Given the description of an element on the screen output the (x, y) to click on. 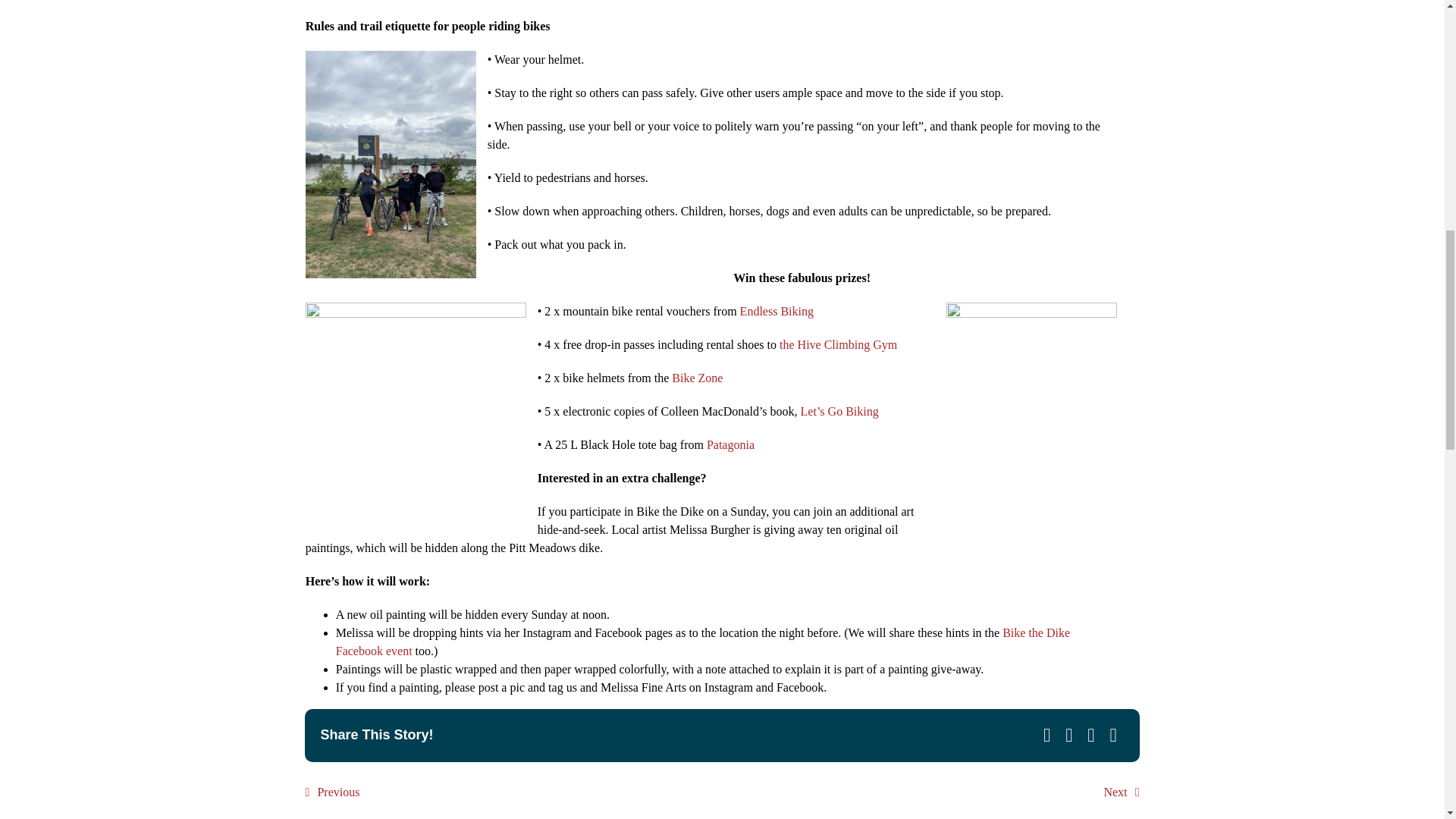
Facebook (1046, 735)
the Hive Climbing Gym (837, 344)
LinkedIn (1091, 735)
Endless Biking (776, 310)
X (1069, 735)
Email (1113, 735)
